Given the description of an element on the screen output the (x, y) to click on. 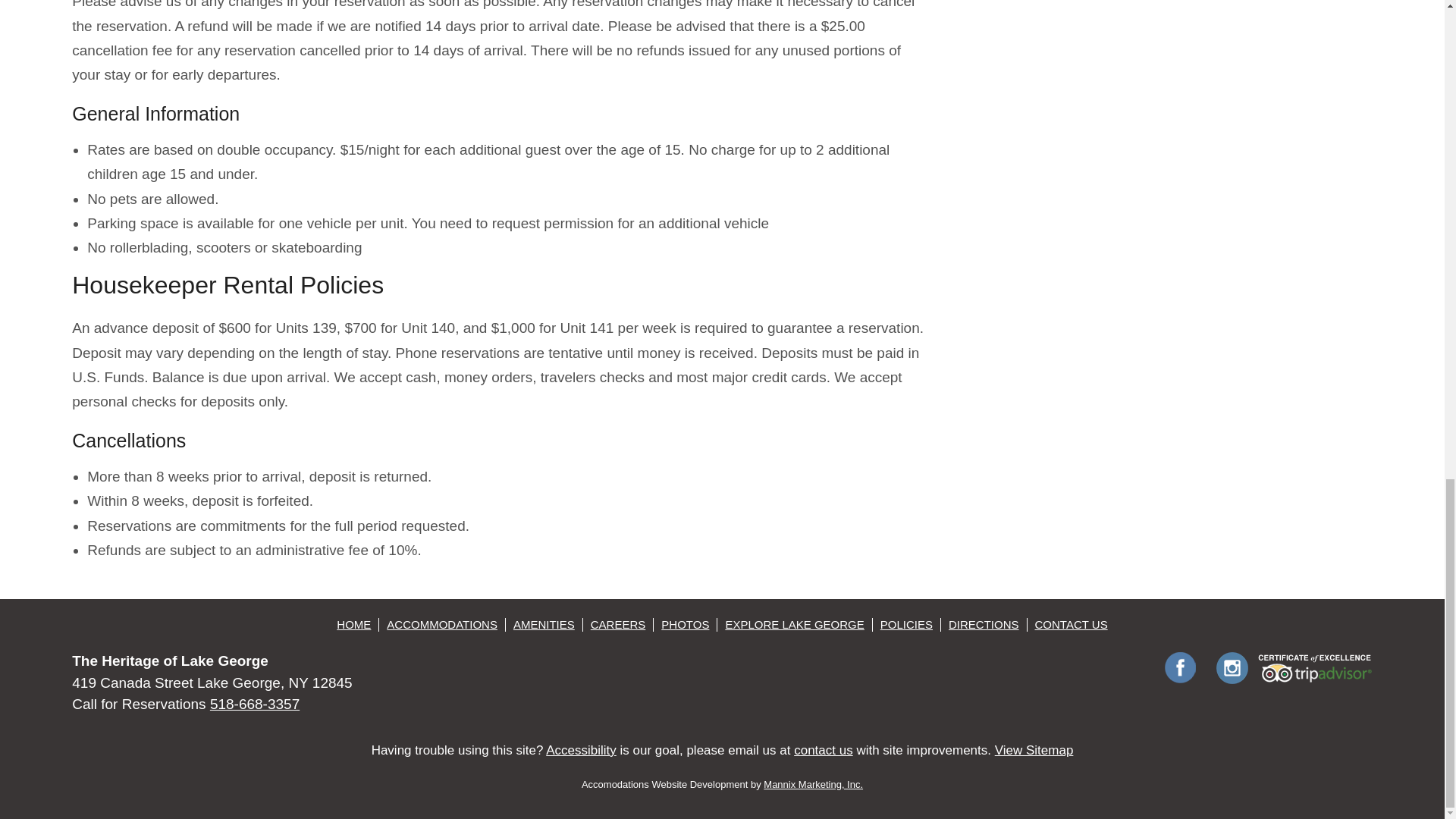
Opens in a new window (812, 784)
